Given the description of an element on the screen output the (x, y) to click on. 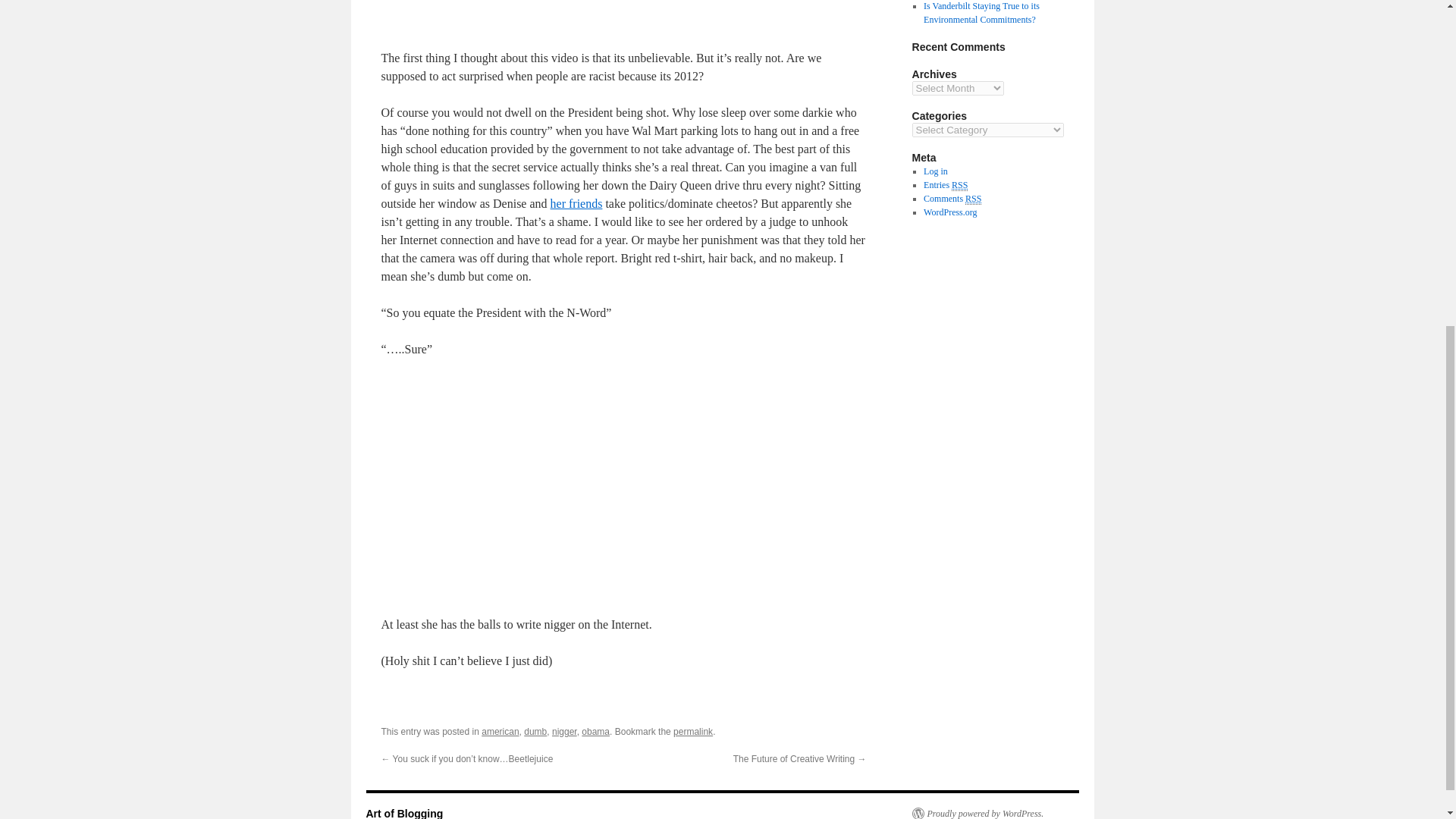
obama (595, 731)
WordPress.org (949, 212)
Entries RSS (945, 184)
her friends (576, 203)
Log in (935, 171)
Really Simple Syndication (973, 198)
Comments RSS (952, 198)
permalink (692, 731)
nigger (563, 731)
Really Simple Syndication (960, 184)
Is Vanderbilt Staying True to its Environmental Commitments? (981, 12)
american (499, 731)
dumb (535, 731)
Permalink to Proud to be an American (692, 731)
